Given the description of an element on the screen output the (x, y) to click on. 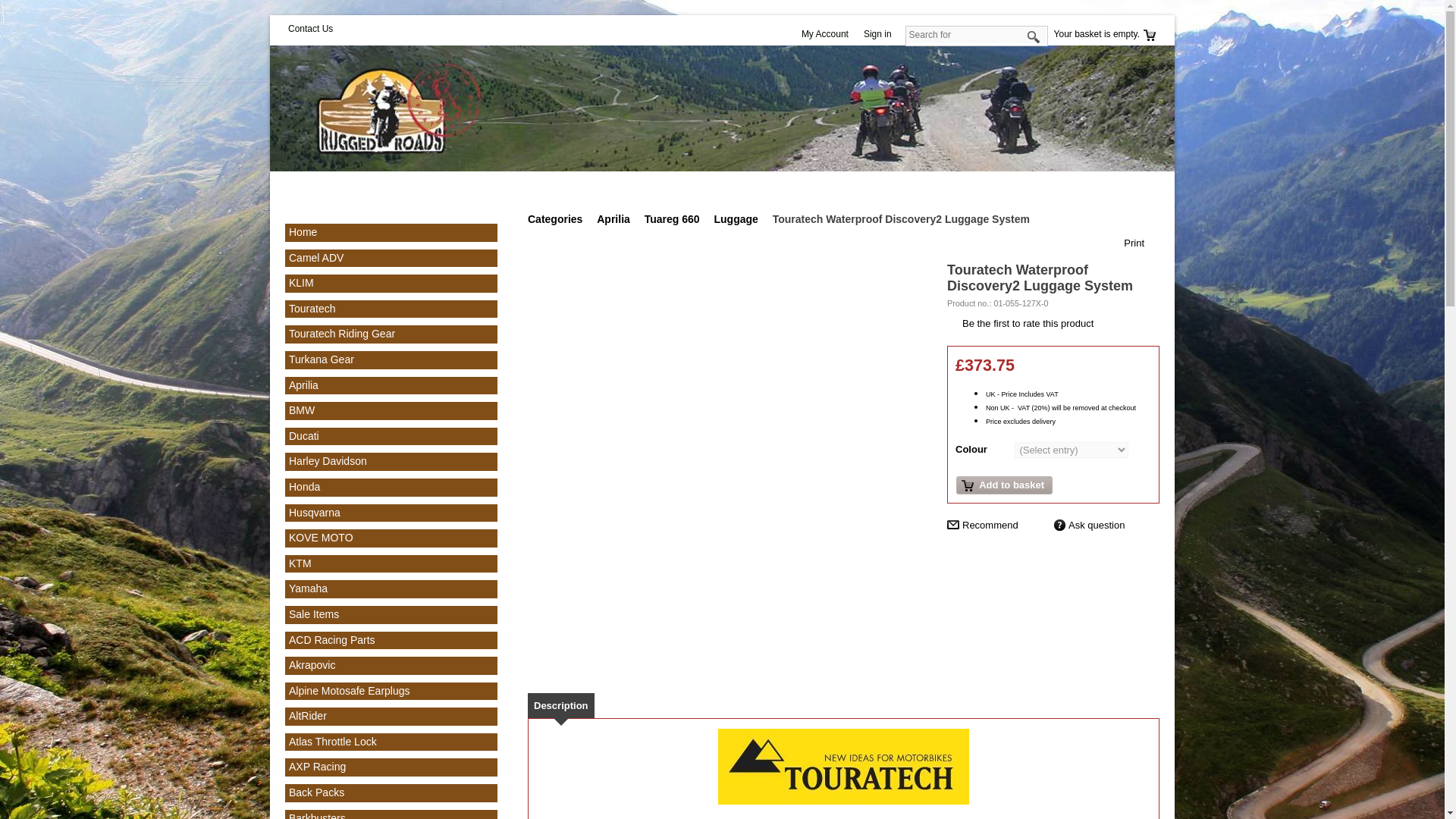
Start search (1034, 37)
Ducati (303, 435)
My Account (829, 34)
Aprilia (303, 385)
Sale Items (313, 613)
Touratech (311, 308)
KOVE MOTO (320, 537)
Touratech Riding Gear (341, 333)
Alpine Motosafe Earplugs (349, 690)
Turkana Gear (320, 358)
KTM (299, 563)
Atlas Throttle Lock (332, 741)
Back Packs (315, 792)
AltRider (307, 715)
Sign in (881, 34)
